Given the description of an element on the screen output the (x, y) to click on. 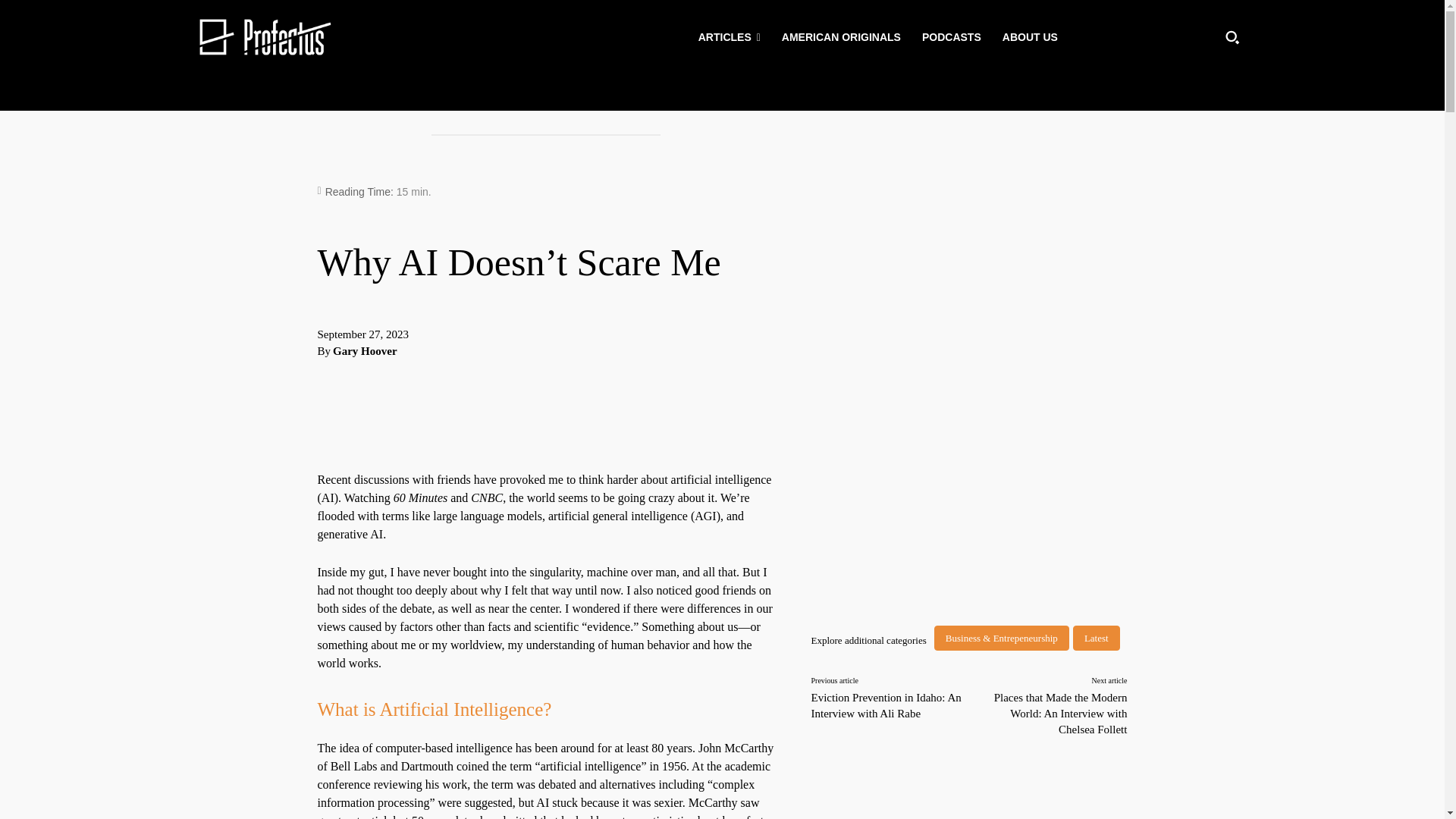
PODCASTS (951, 36)
ABOUT US (1029, 36)
Gary Hoover (365, 350)
ARTICLES (729, 36)
Latest (1096, 637)
Eviction Prevention in Idaho: An Interview with Ali Rabe (885, 705)
AMERICAN ORIGINALS (841, 36)
